Given the description of an element on the screen output the (x, y) to click on. 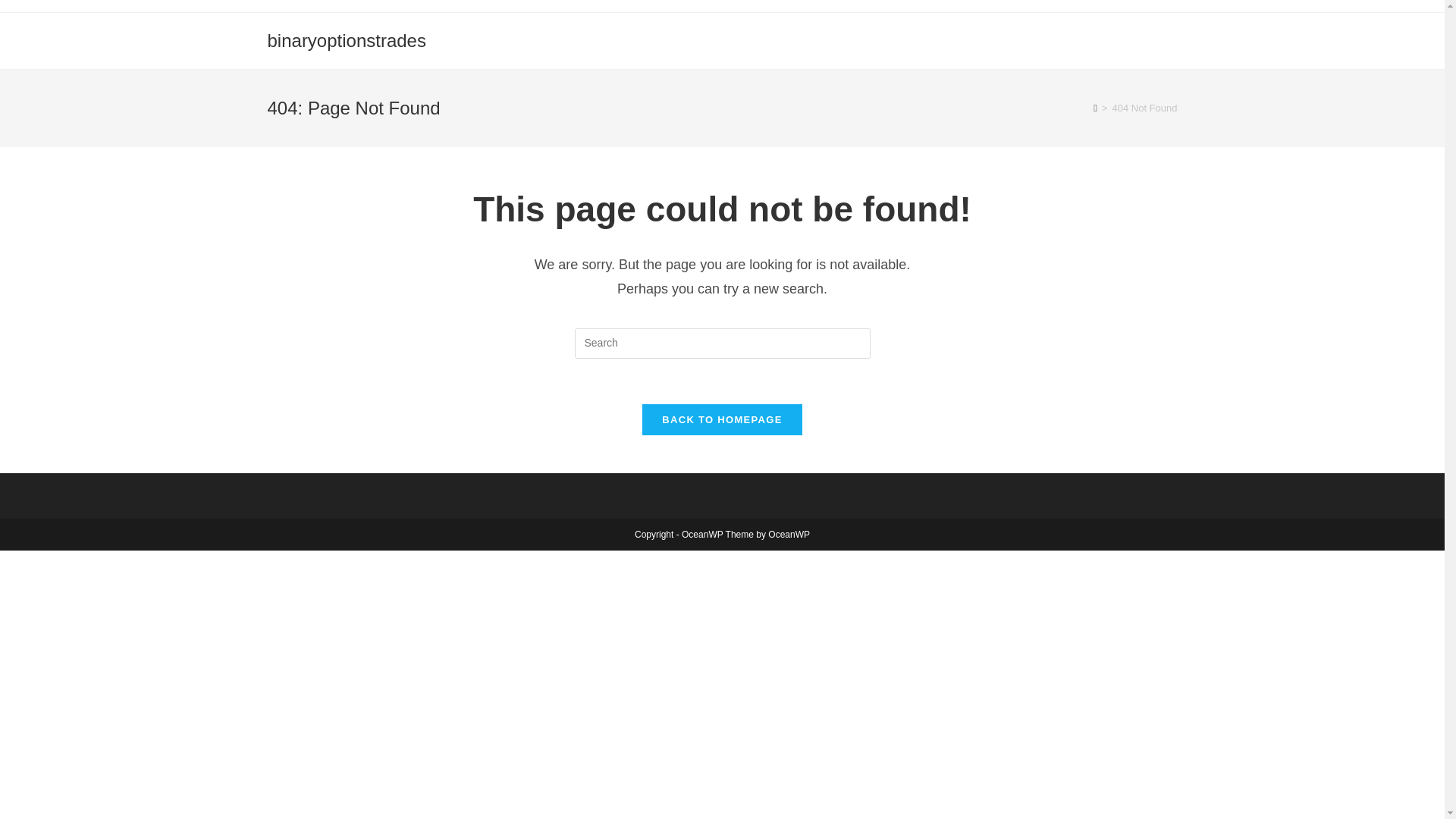
BACK TO HOMEPAGE (722, 419)
binaryoptionstrades (345, 40)
